Given the description of an element on the screen output the (x, y) to click on. 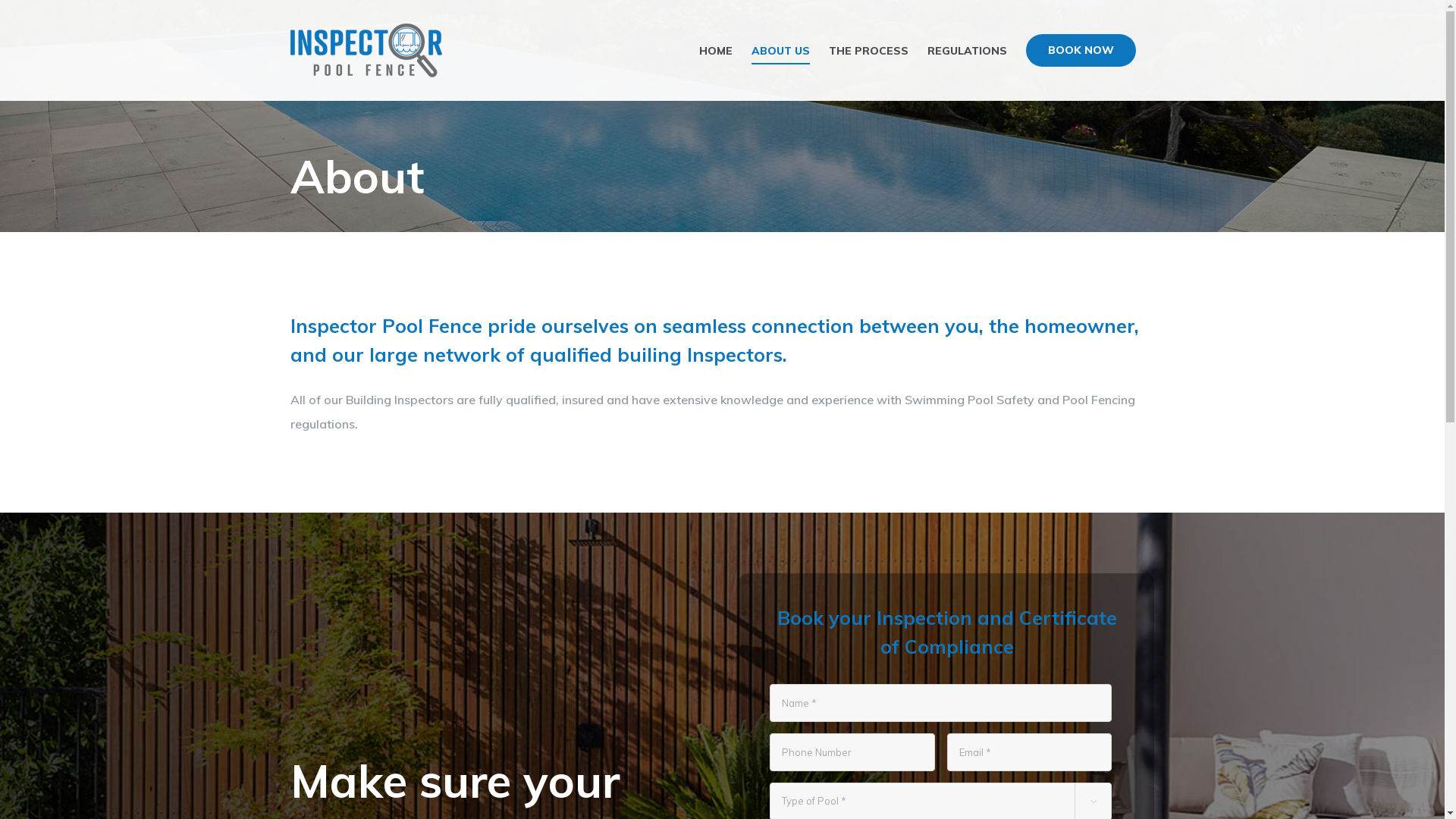
REGULATIONS Element type: text (966, 50)
BOOK NOW Element type: text (1080, 50)
THE PROCESS Element type: text (867, 50)
HOME Element type: text (715, 50)
ABOUT US Element type: text (779, 50)
